Given the description of an element on the screen output the (x, y) to click on. 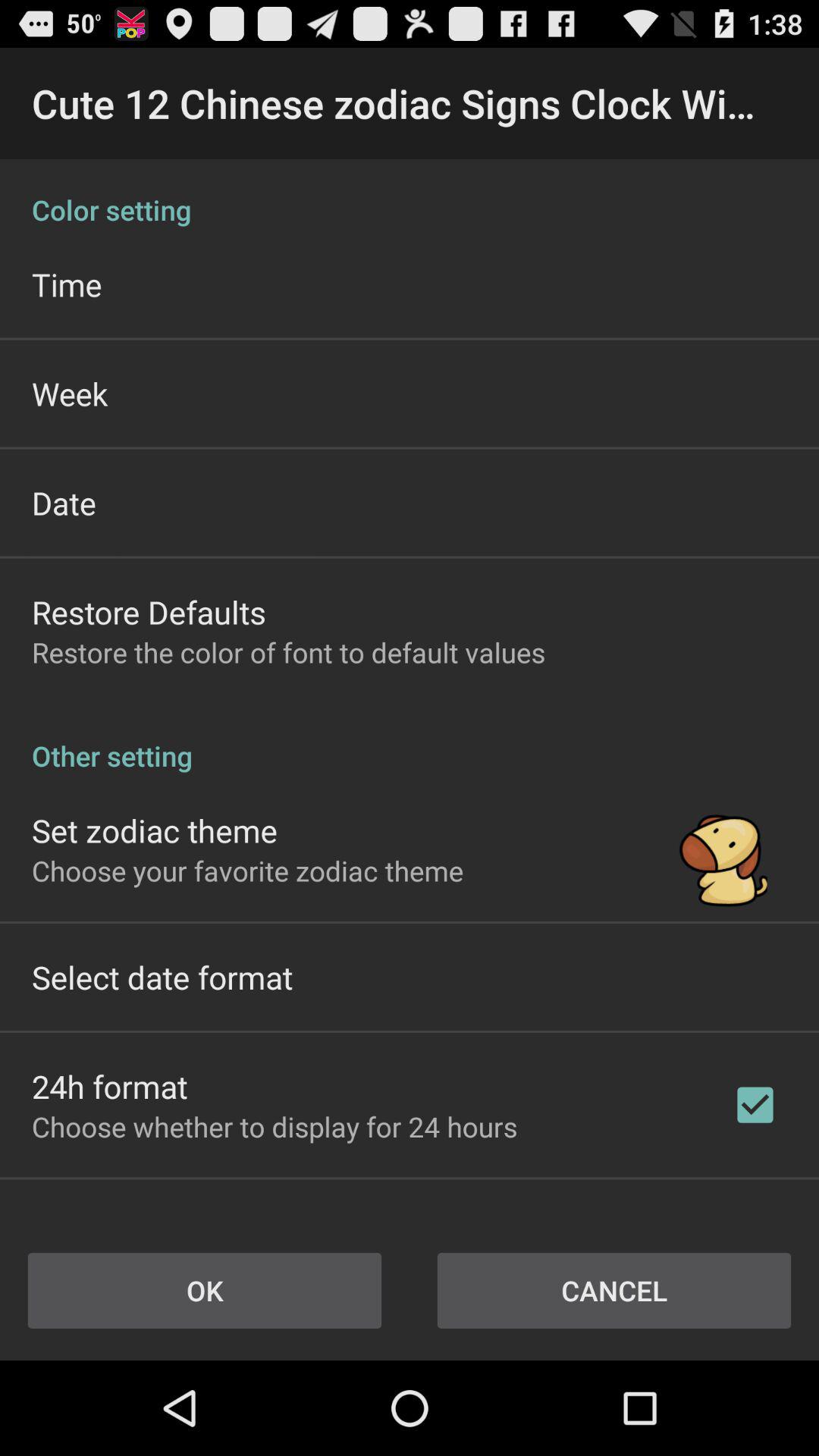
swipe to cancel (614, 1290)
